Given the description of an element on the screen output the (x, y) to click on. 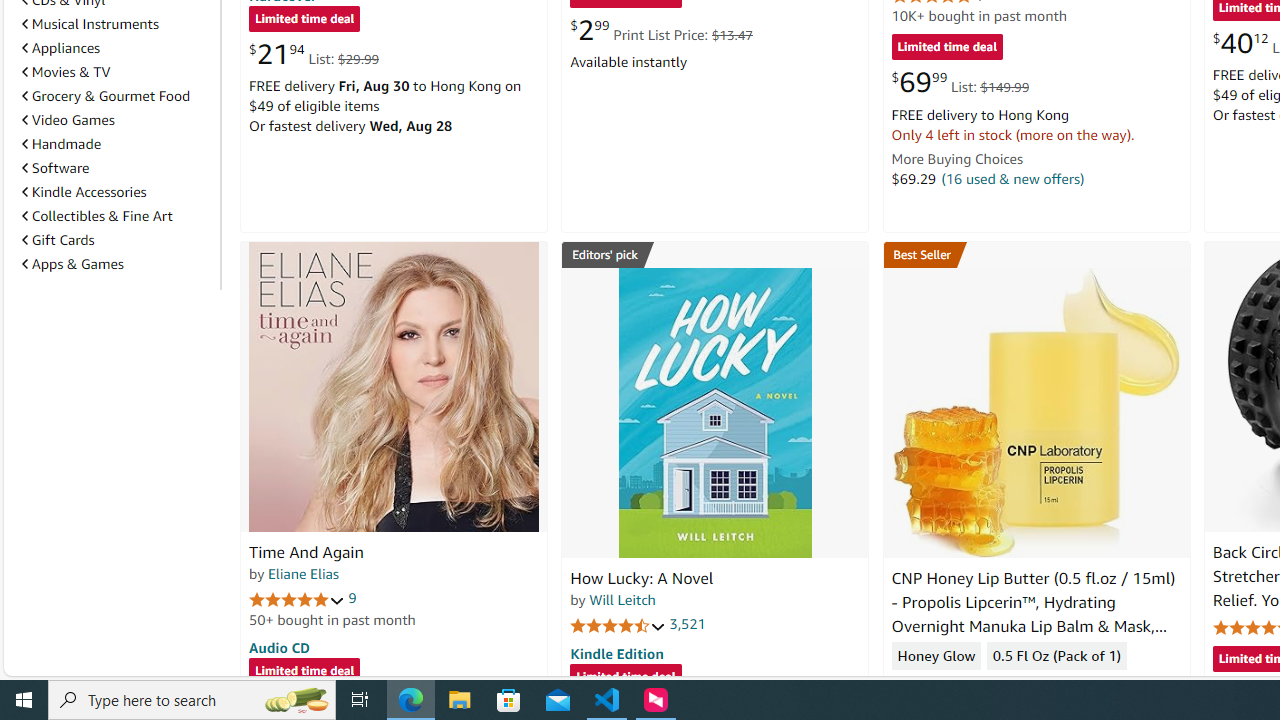
Kindle Accessories (84, 191)
Will Leitch (621, 599)
Collectibles & Fine Art (117, 215)
Software (55, 168)
Gift Cards (57, 240)
Video Games (68, 119)
Apps & Games (72, 263)
Software (117, 167)
3,521 (687, 624)
How Lucky: A Novel (714, 412)
Movies & TV (66, 71)
9 (352, 597)
Movies & TV (117, 71)
Appliances (61, 47)
